Given the description of an element on the screen output the (x, y) to click on. 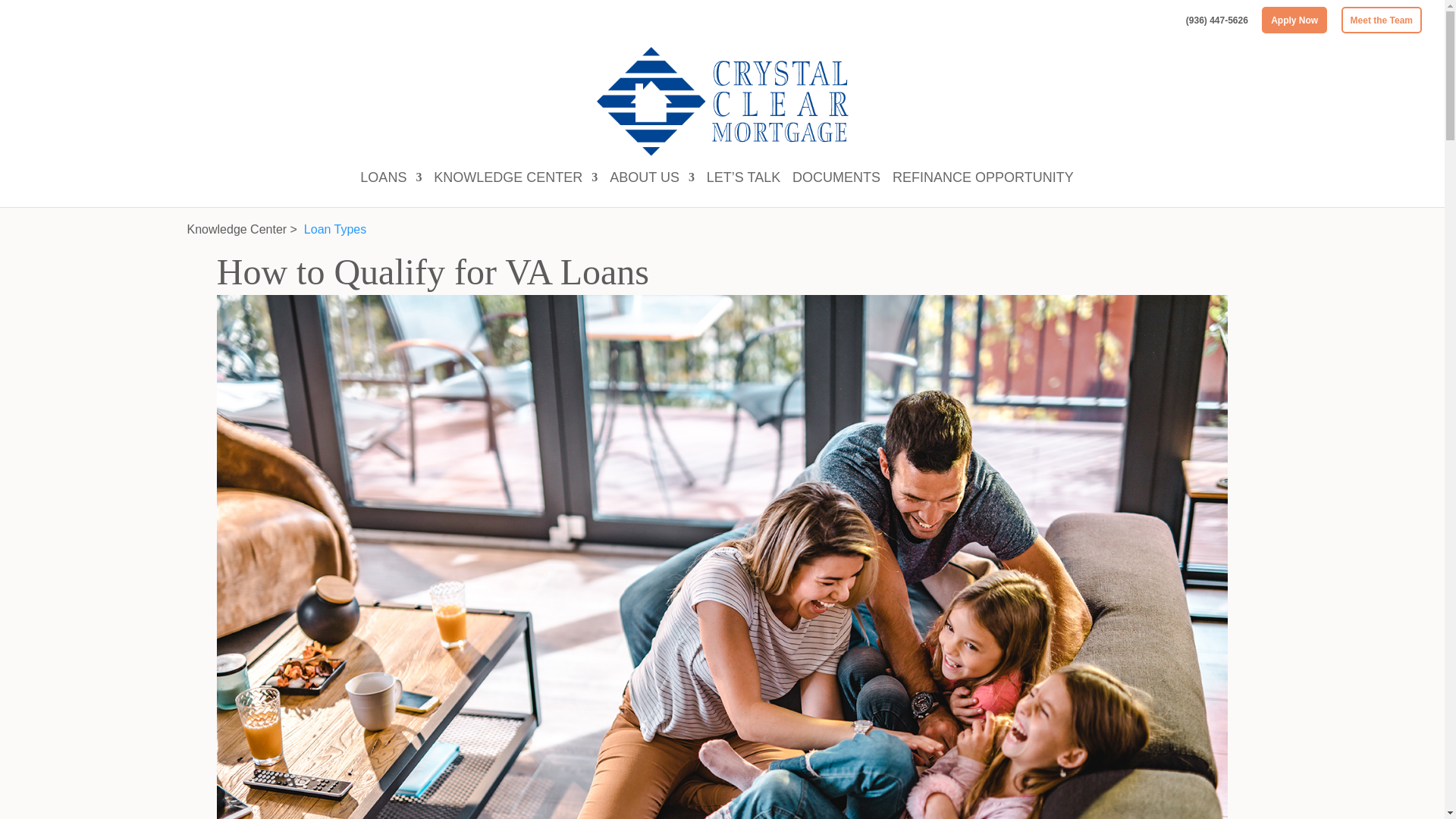
ABOUT US (652, 189)
Apply Now (1294, 19)
DOCUMENTS (836, 189)
Meet the Team (1381, 19)
LOANS (390, 189)
Knowledge Center (236, 228)
REFINANCE OPPORTUNITY (983, 189)
Loan Types (335, 228)
KNOWLEDGE CENTER (514, 189)
